Given the description of an element on the screen output the (x, y) to click on. 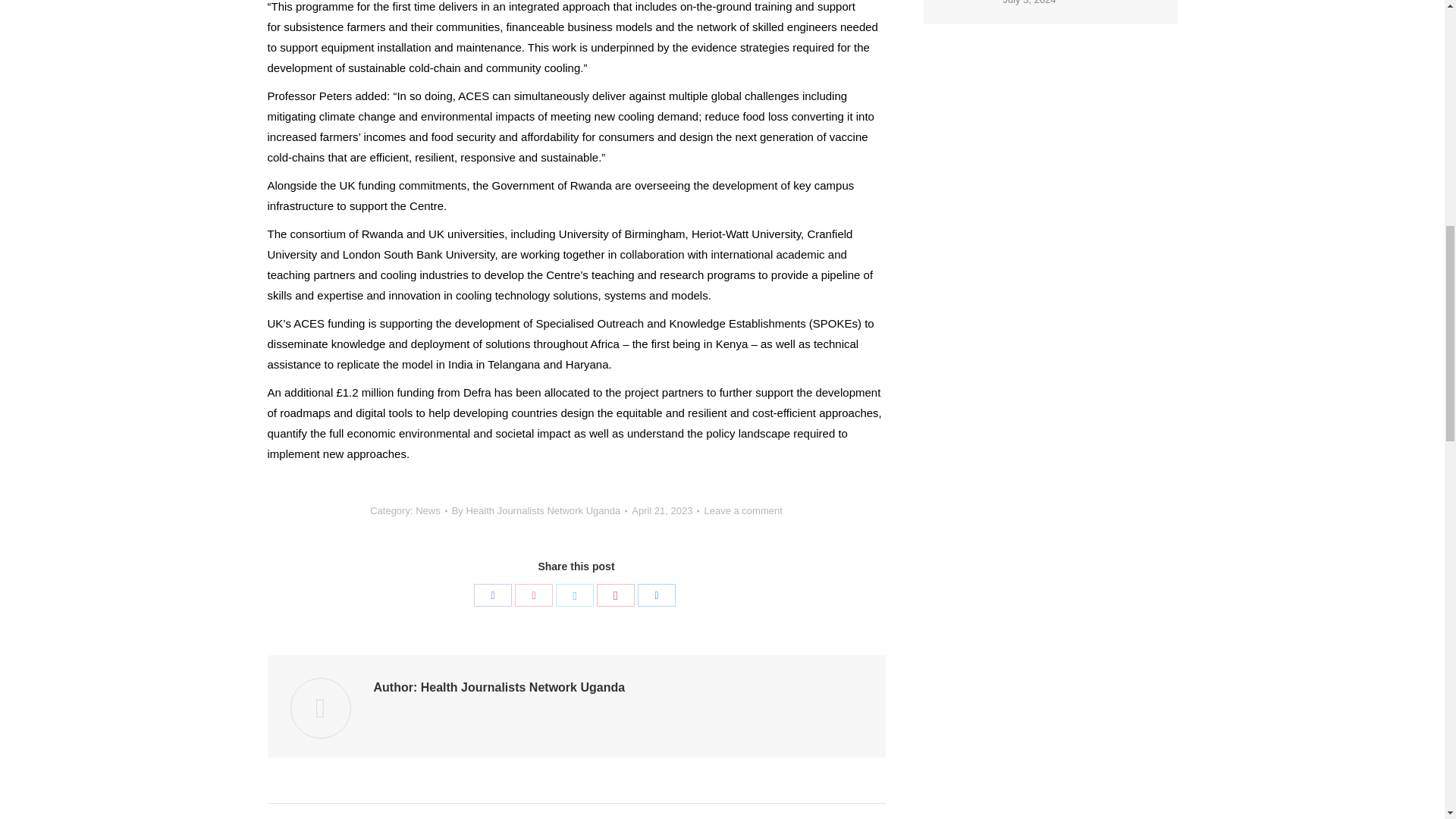
View all posts by Health Journalists Network Uganda (539, 510)
